Given the description of an element on the screen output the (x, y) to click on. 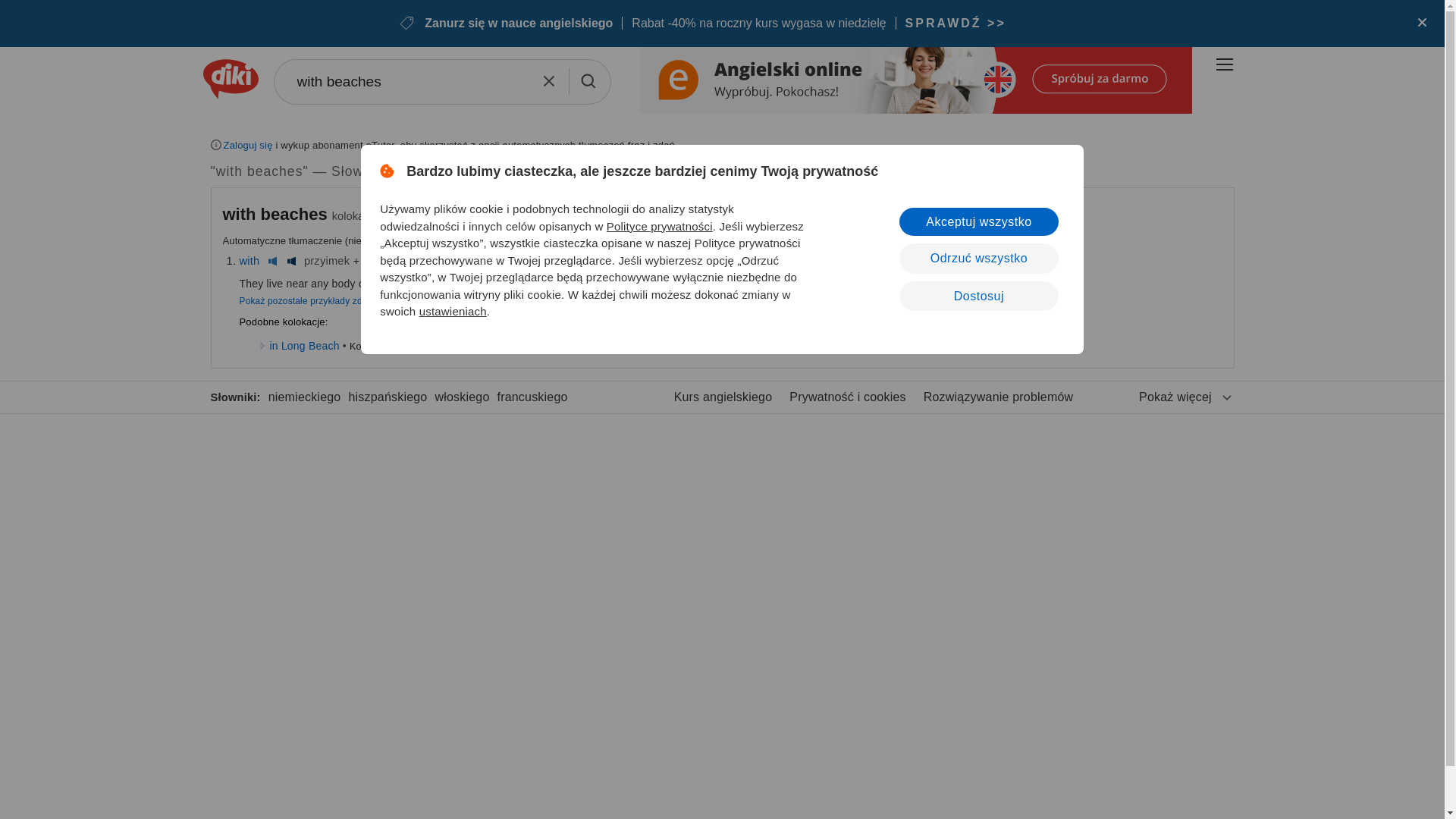
ustawieniach (452, 310)
American English (291, 260)
British English (406, 260)
Uwaga: kolokacja wygenerowana automatycznie. (276, 213)
with (250, 260)
in Long Beach (304, 345)
British English (272, 260)
Akceptuj wszystko (978, 221)
beach (377, 260)
with beaches (441, 81)
Szukaj (587, 80)
Dostosuj (978, 296)
with beaches (274, 213)
with beaches (441, 81)
American English (425, 260)
